Given the description of an element on the screen output the (x, y) to click on. 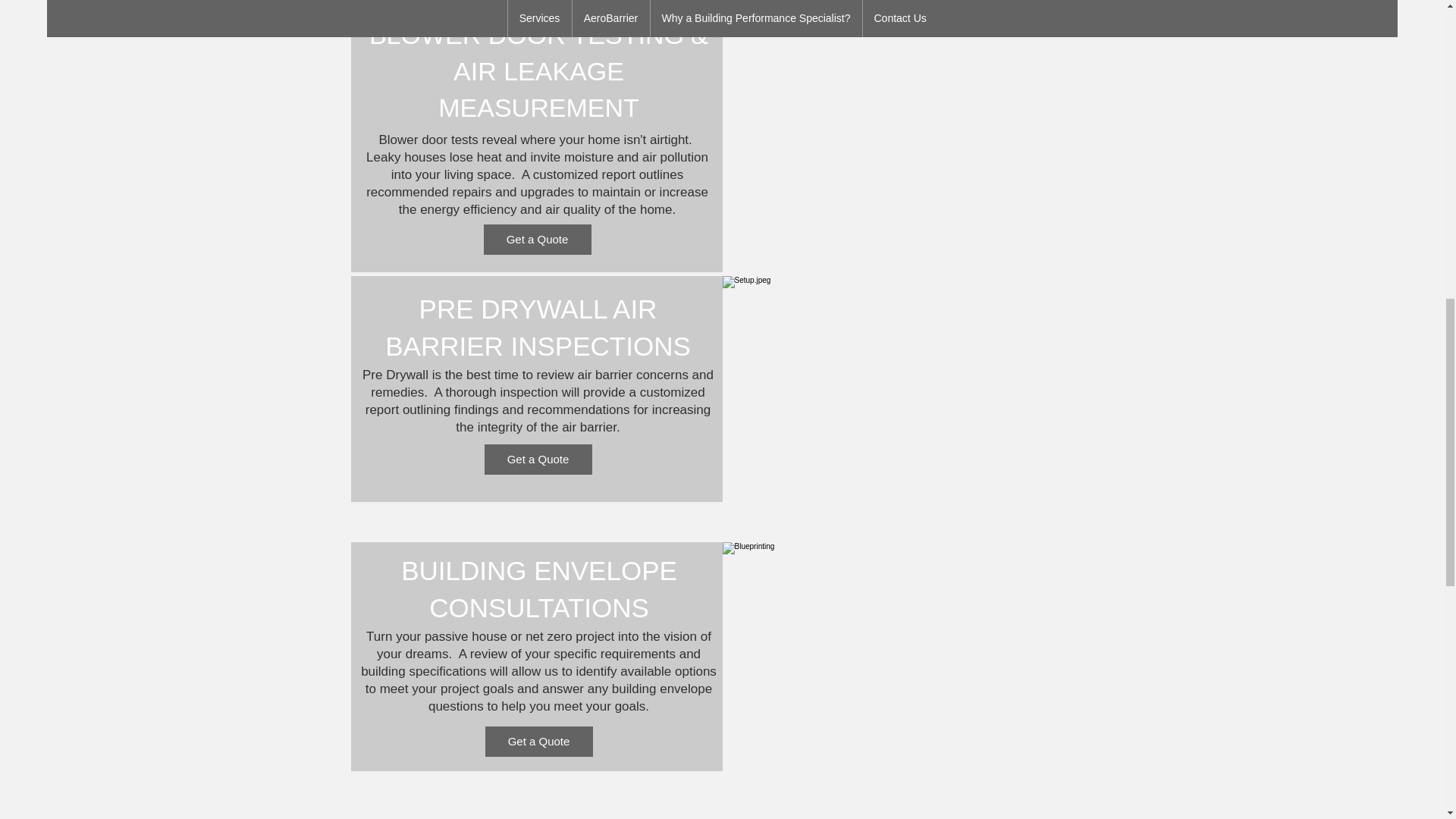
Get a Quote (537, 459)
Get a Quote (537, 239)
Get a Quote (538, 741)
